Given the description of an element on the screen output the (x, y) to click on. 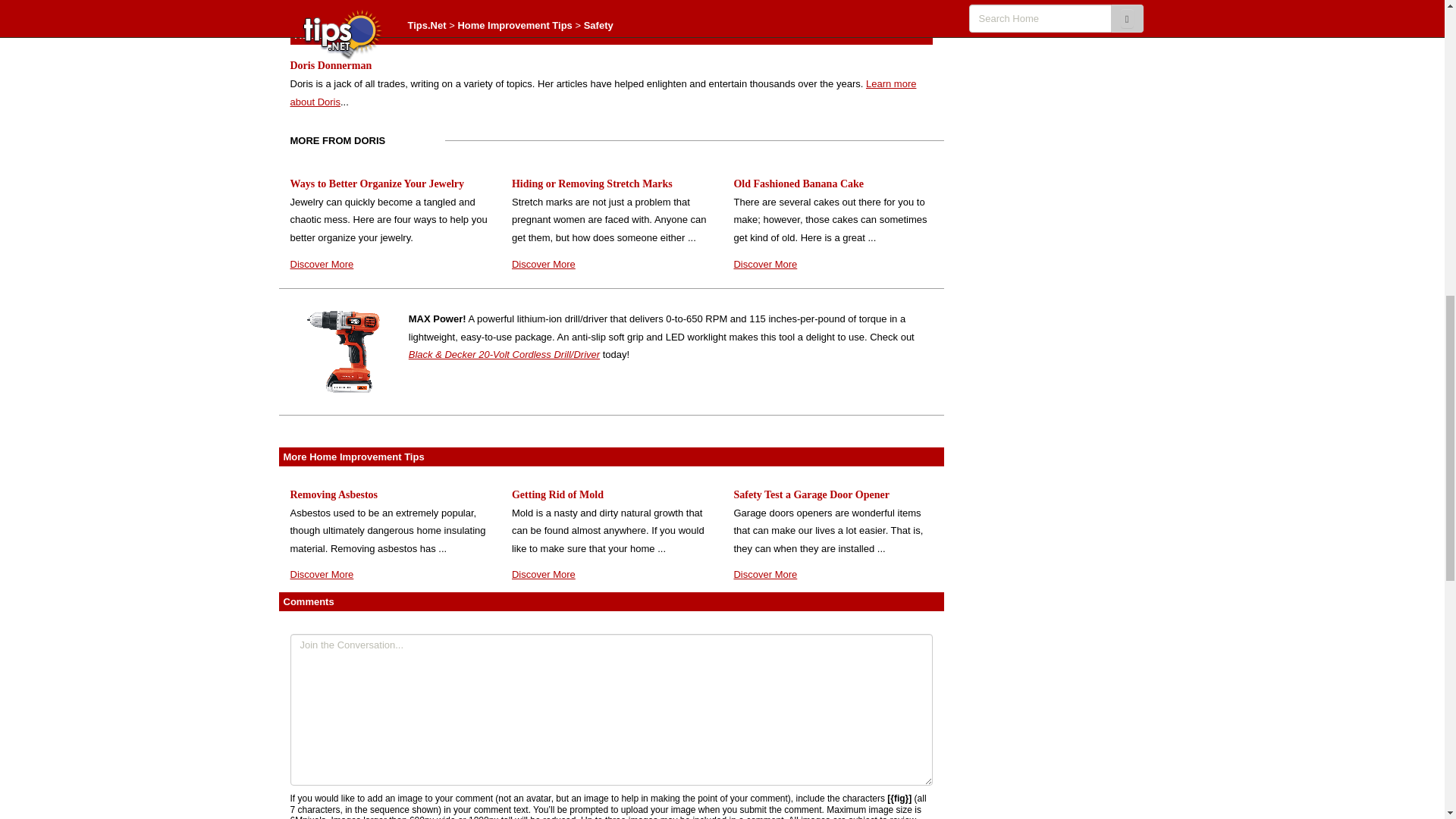
Discover More (321, 573)
Discover More (764, 264)
Discover More (321, 264)
Discover More (543, 264)
Discover More (543, 573)
Learn more about Doris (602, 92)
Discover More (764, 573)
